Given the description of an element on the screen output the (x, y) to click on. 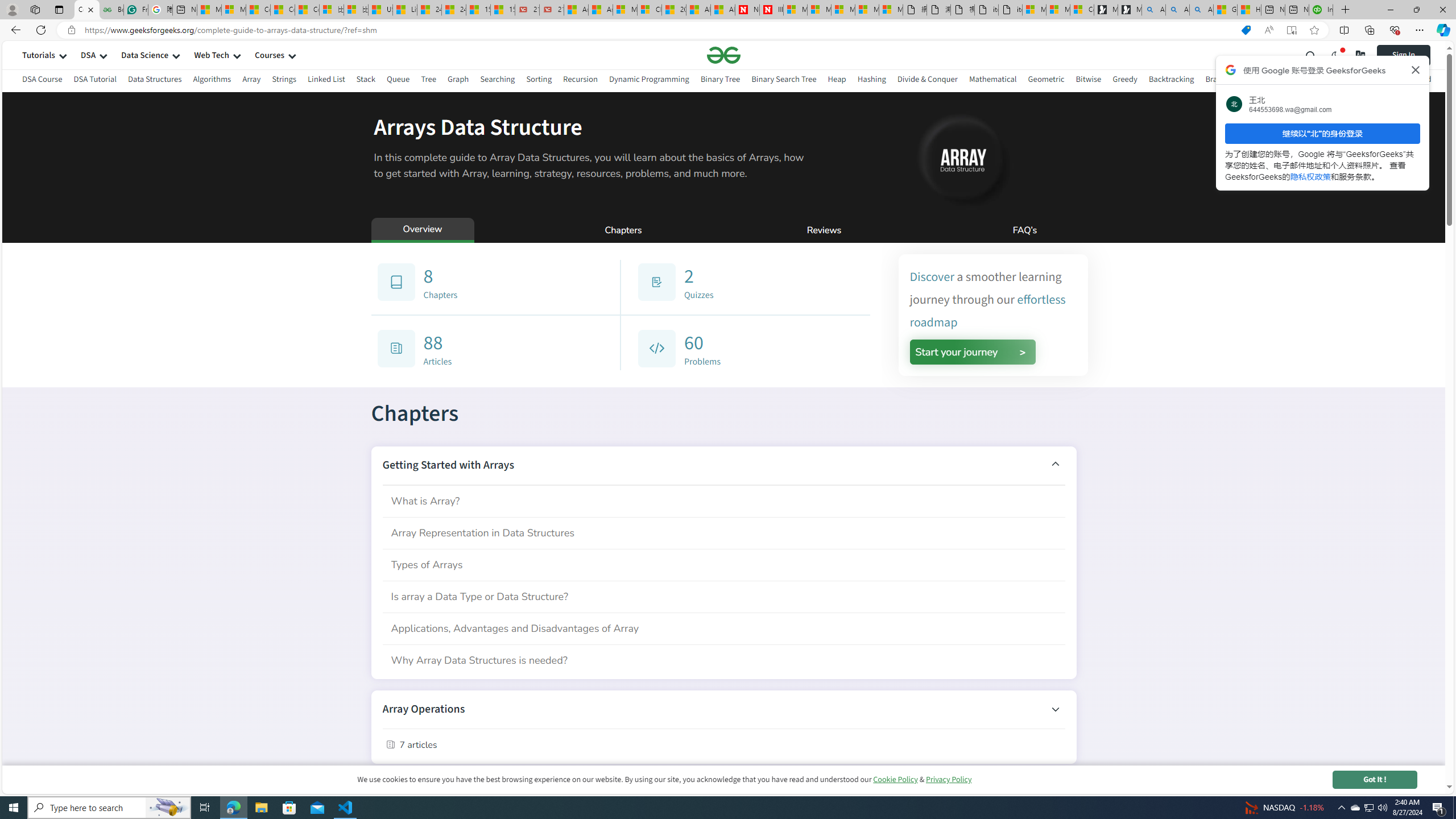
USA TODAY - MSN (380, 9)
geeksforgeeks (723, 54)
Greedy (1124, 80)
Dynamic Programming (648, 80)
Binary Search Tree (783, 80)
Recursion (579, 79)
Heap (836, 79)
21 Movies That Outdid the Books They Were Based On (551, 9)
Hashing (871, 79)
Class: Bz112c Bz112c-r9oPif (1415, 69)
